Given the description of an element on the screen output the (x, y) to click on. 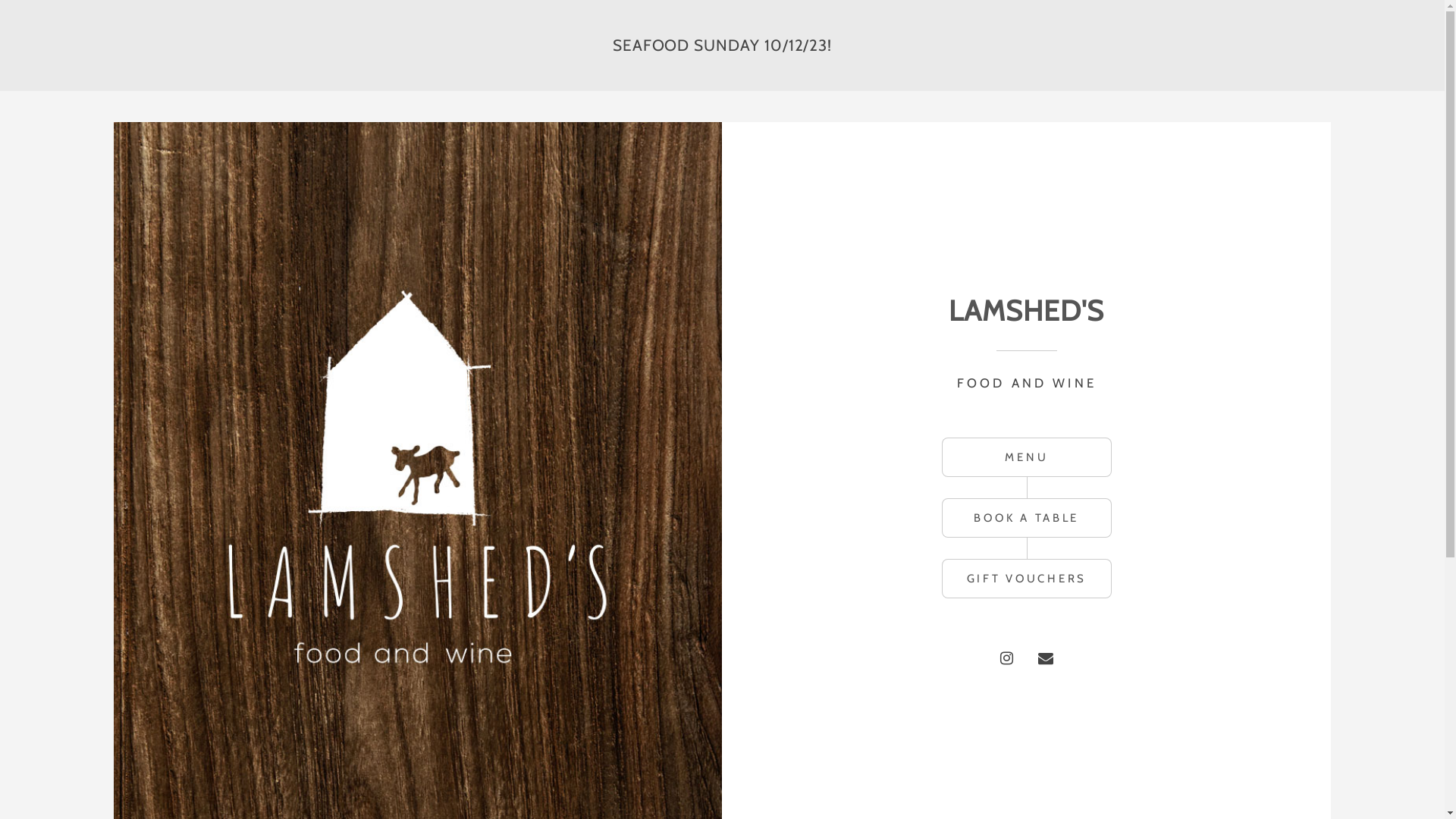
MENU Element type: text (1026, 456)
BOOK A TABLE Element type: text (1026, 517)
GIFT VOUCHERS Element type: text (1026, 578)
